Given the description of an element on the screen output the (x, y) to click on. 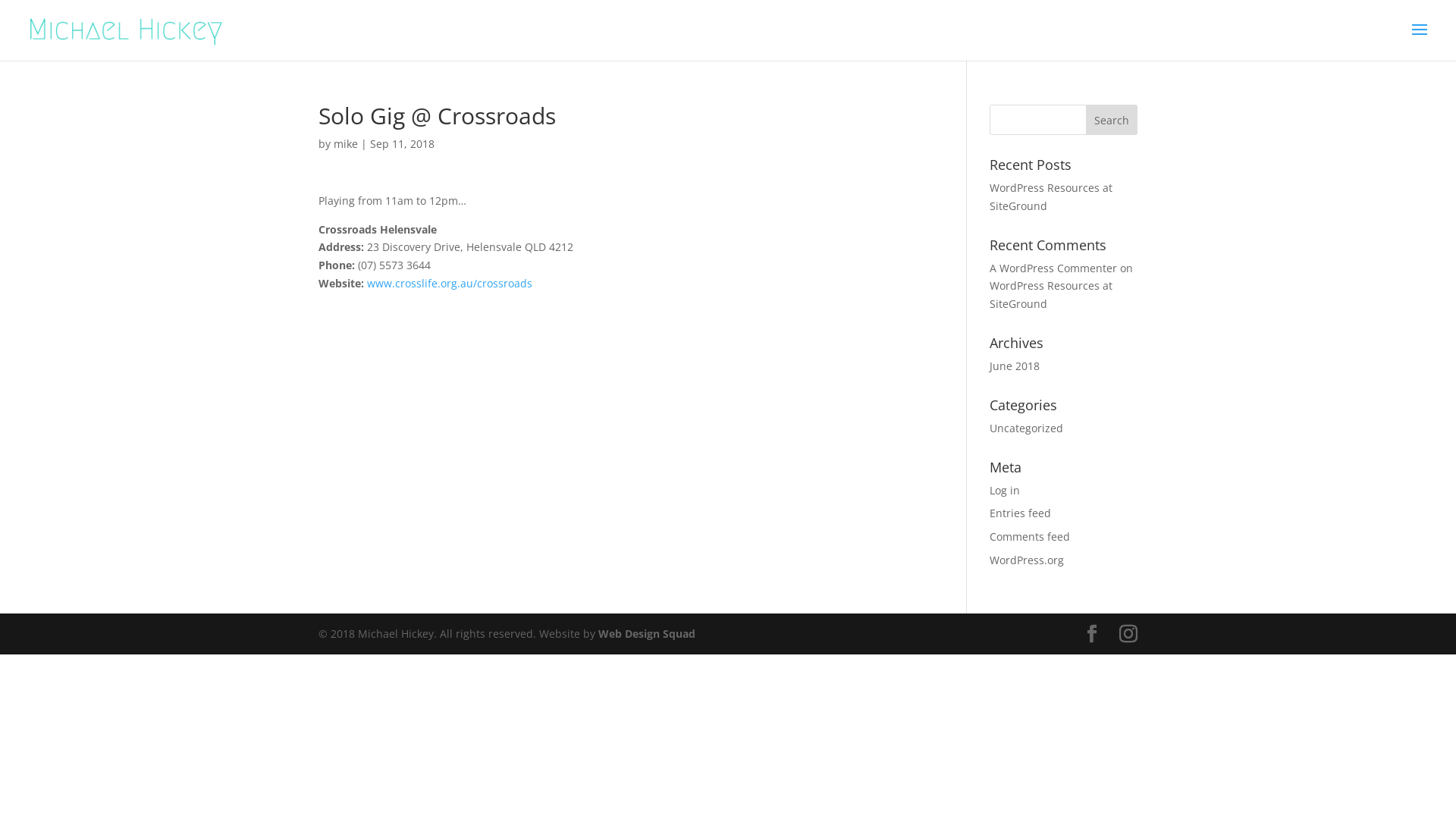
Log in Element type: text (1004, 490)
Search Element type: text (1111, 119)
A WordPress Commenter Element type: text (1053, 267)
Entries feed Element type: text (1020, 512)
WordPress.org Element type: text (1026, 559)
WordPress Resources at SiteGround Element type: text (1050, 196)
Comments feed Element type: text (1029, 536)
WordPress Resources at SiteGround Element type: text (1050, 294)
Uncategorized Element type: text (1026, 427)
Web Design Squad Element type: text (646, 633)
mike Element type: text (345, 143)
June 2018 Element type: text (1014, 365)
www.crosslife.org.au/crossroads Element type: text (449, 283)
